Given the description of an element on the screen output the (x, y) to click on. 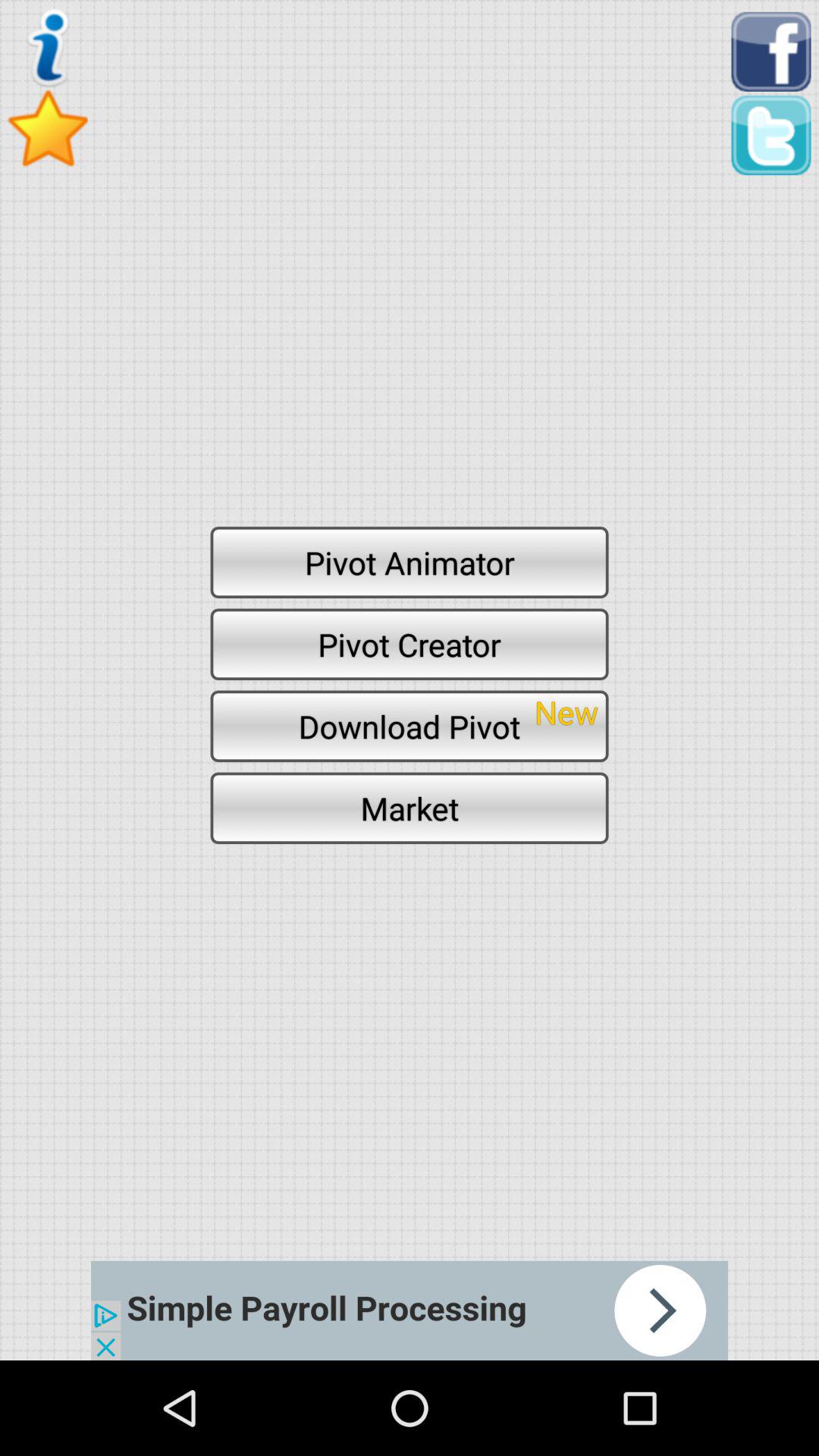
press pivot animator (409, 562)
